Given the description of an element on the screen output the (x, y) to click on. 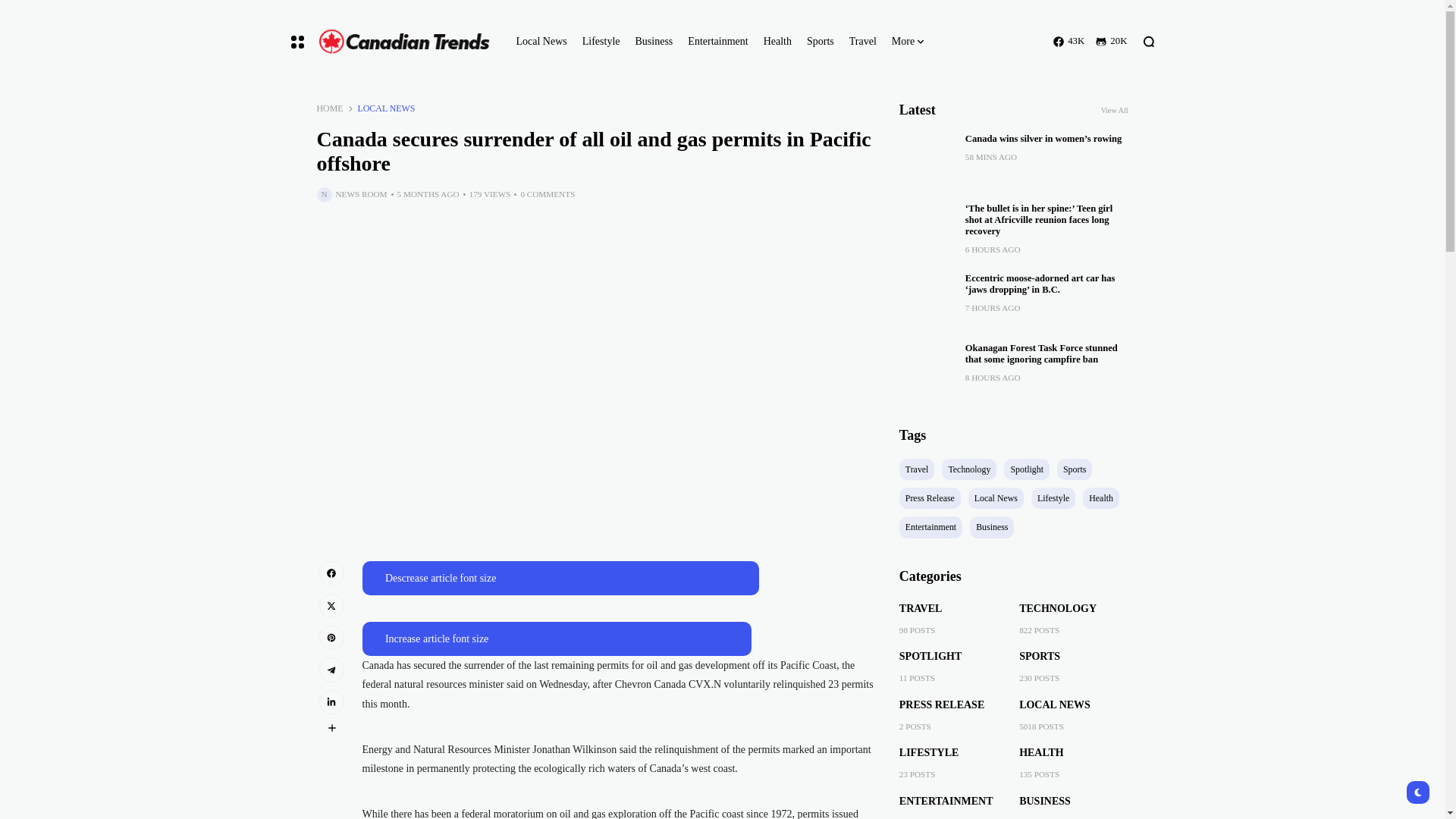
Descrease article font size (560, 578)
5 MONTHS AGO (428, 194)
NEWS ROOM (360, 194)
Posts by News Room (360, 194)
20K (1111, 41)
43K (1068, 41)
179 VIEWS (489, 194)
LOCAL NEWS (386, 109)
Entertainment (717, 41)
0 COMMENTS (547, 194)
HOME (330, 109)
Canadian Trends (403, 41)
Increase article font size (556, 638)
